Given the description of an element on the screen output the (x, y) to click on. 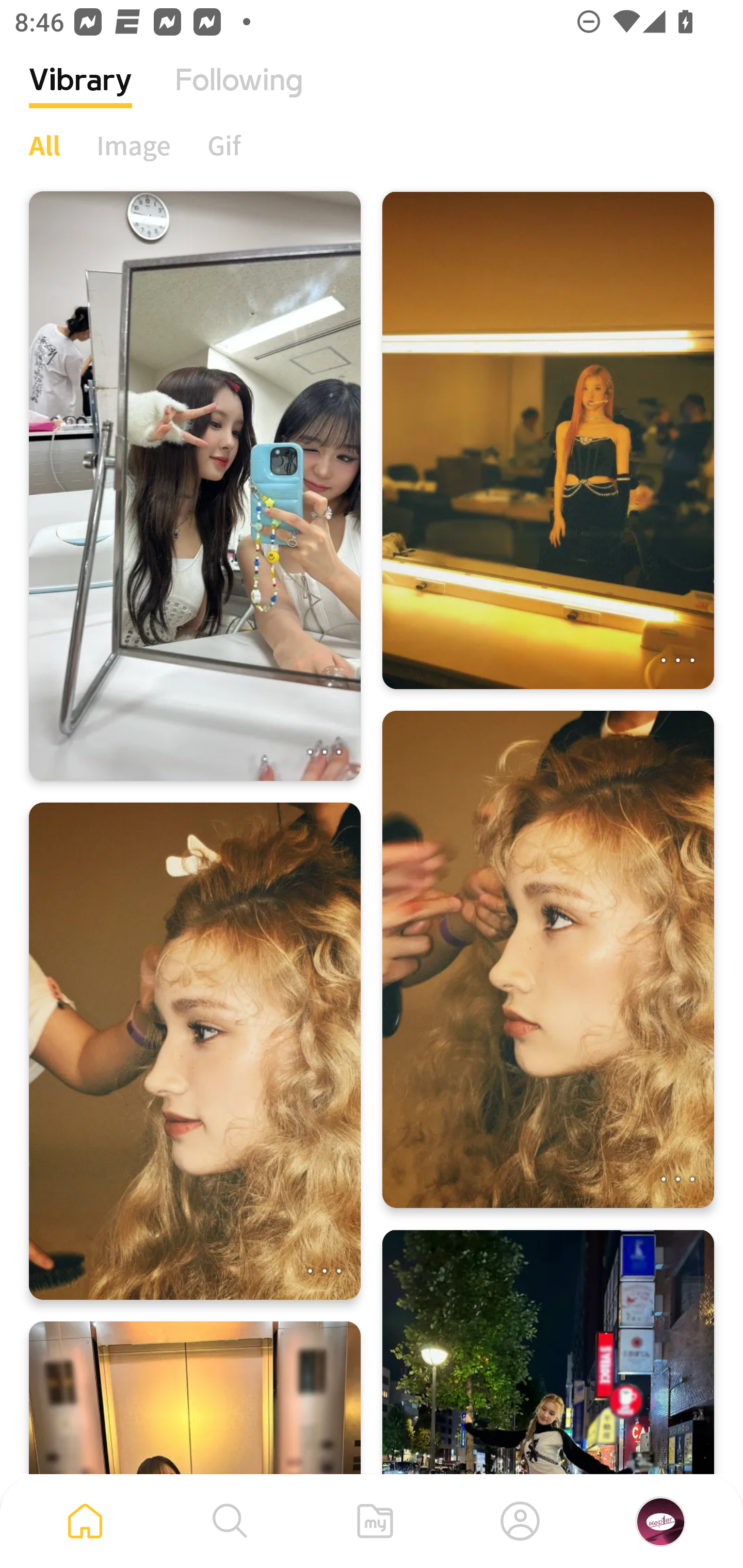
Vibrary (80, 95)
Following (239, 95)
All (44, 145)
Image (133, 145)
Gif (223, 145)
